Given the description of an element on the screen output the (x, y) to click on. 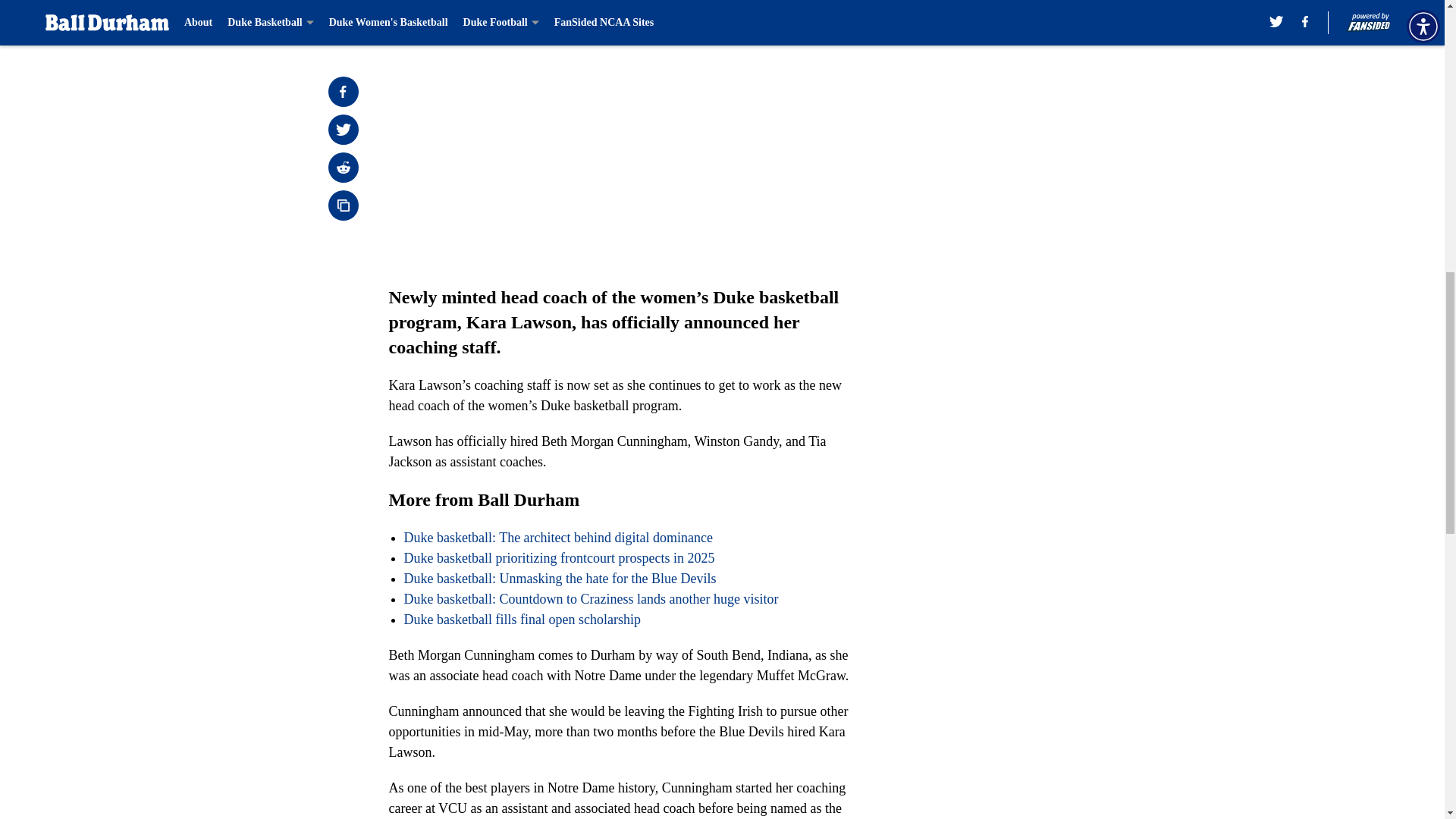
Duke basketball prioritizing frontcourt prospects in 2025 (558, 557)
Duke basketball fills final open scholarship (521, 619)
Duke basketball: The architect behind digital dominance (558, 537)
Duke basketball: Unmasking the hate for the Blue Devils (559, 578)
